Given the description of an element on the screen output the (x, y) to click on. 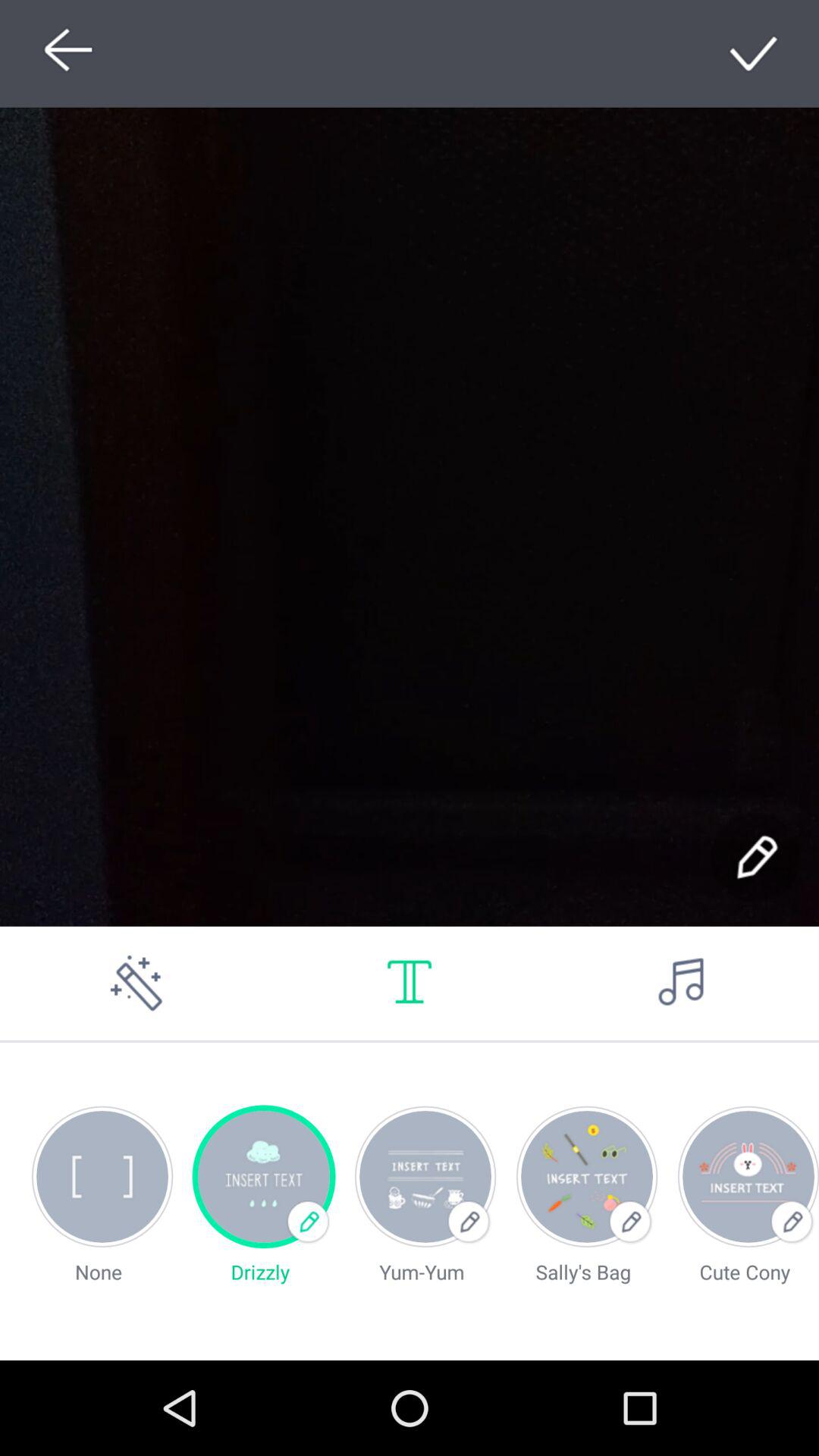
toggle rubber option (136, 983)
